Given the description of an element on the screen output the (x, y) to click on. 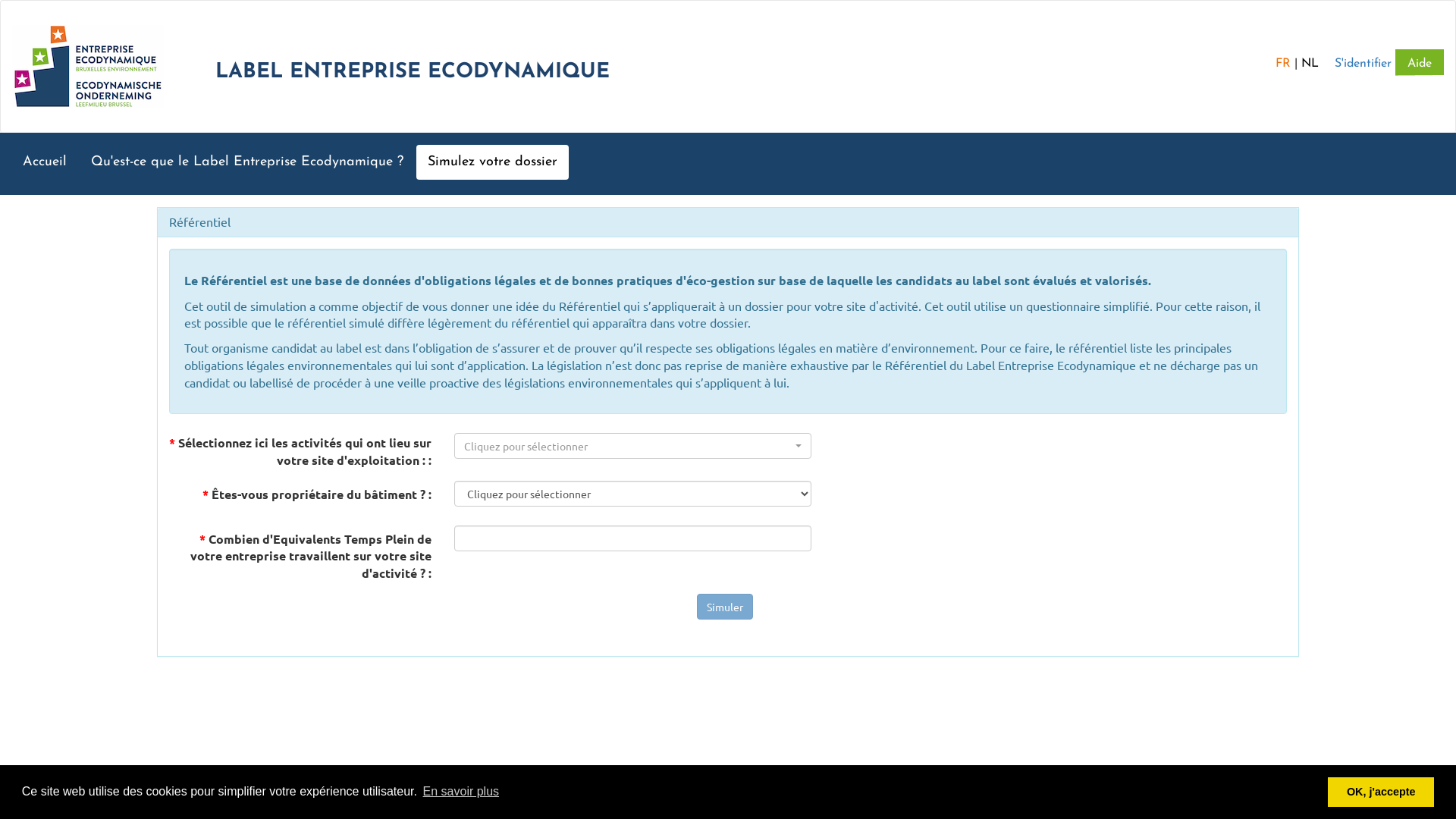
LABEL ENTREPRISE ECODYNAMIQUE Element type: text (310, 98)
Simuler Element type: text (724, 606)
En savoir plus Element type: text (460, 791)
Simulez votre dossier Element type: text (492, 161)
Aide Element type: text (1419, 62)
OK, j'accepte Element type: text (1380, 791)
Qu'est-ce que le Label Entreprise Ecodynamique ? Element type: text (246, 161)
S'identifier Element type: text (1362, 63)
Accueil Element type: text (44, 161)
NL Element type: text (1309, 63)
FR Element type: text (1282, 63)
